Given the description of an element on the screen output the (x, y) to click on. 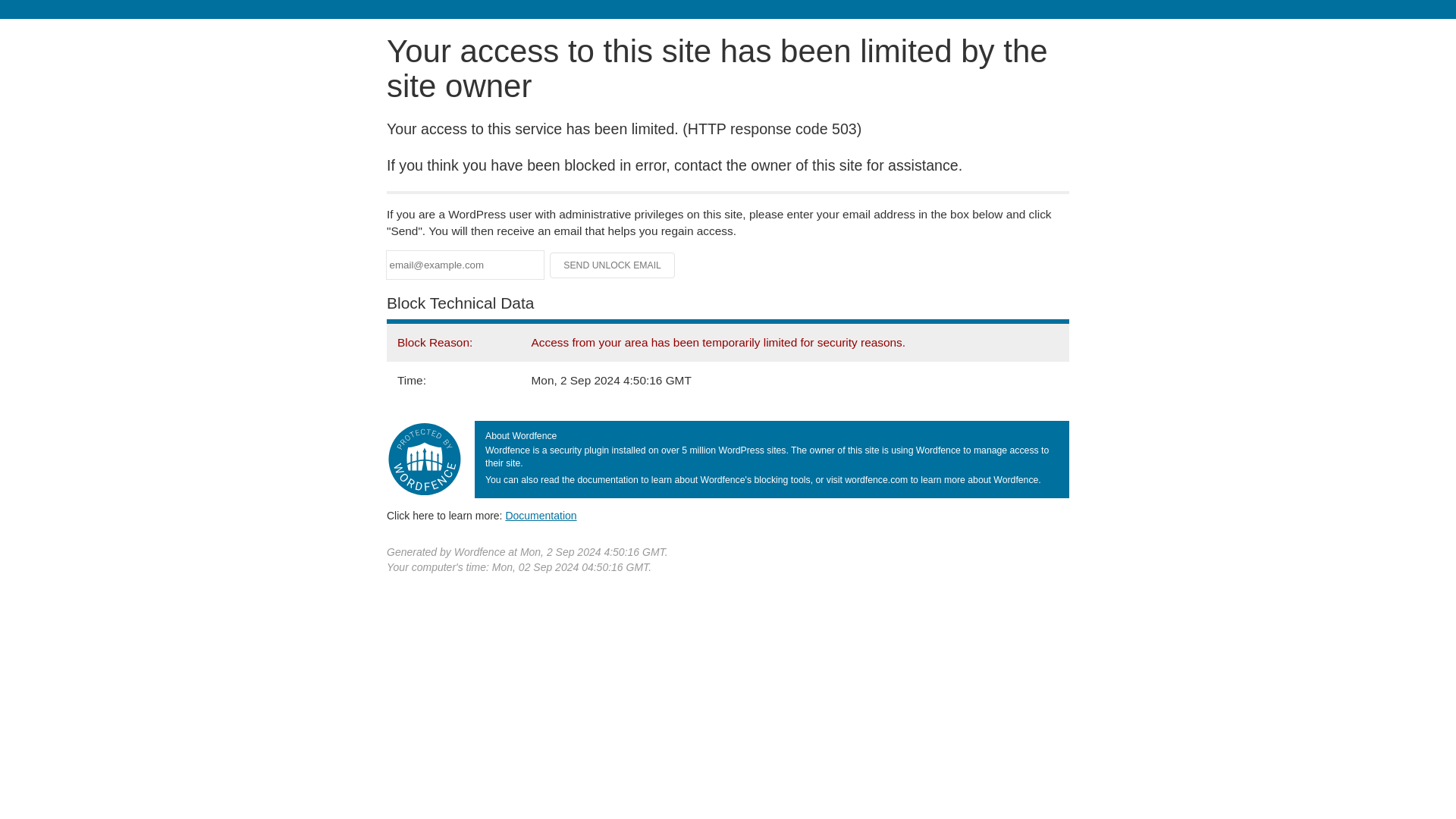
Documentation (540, 515)
Send Unlock Email (612, 265)
Send Unlock Email (612, 265)
